Given the description of an element on the screen output the (x, y) to click on. 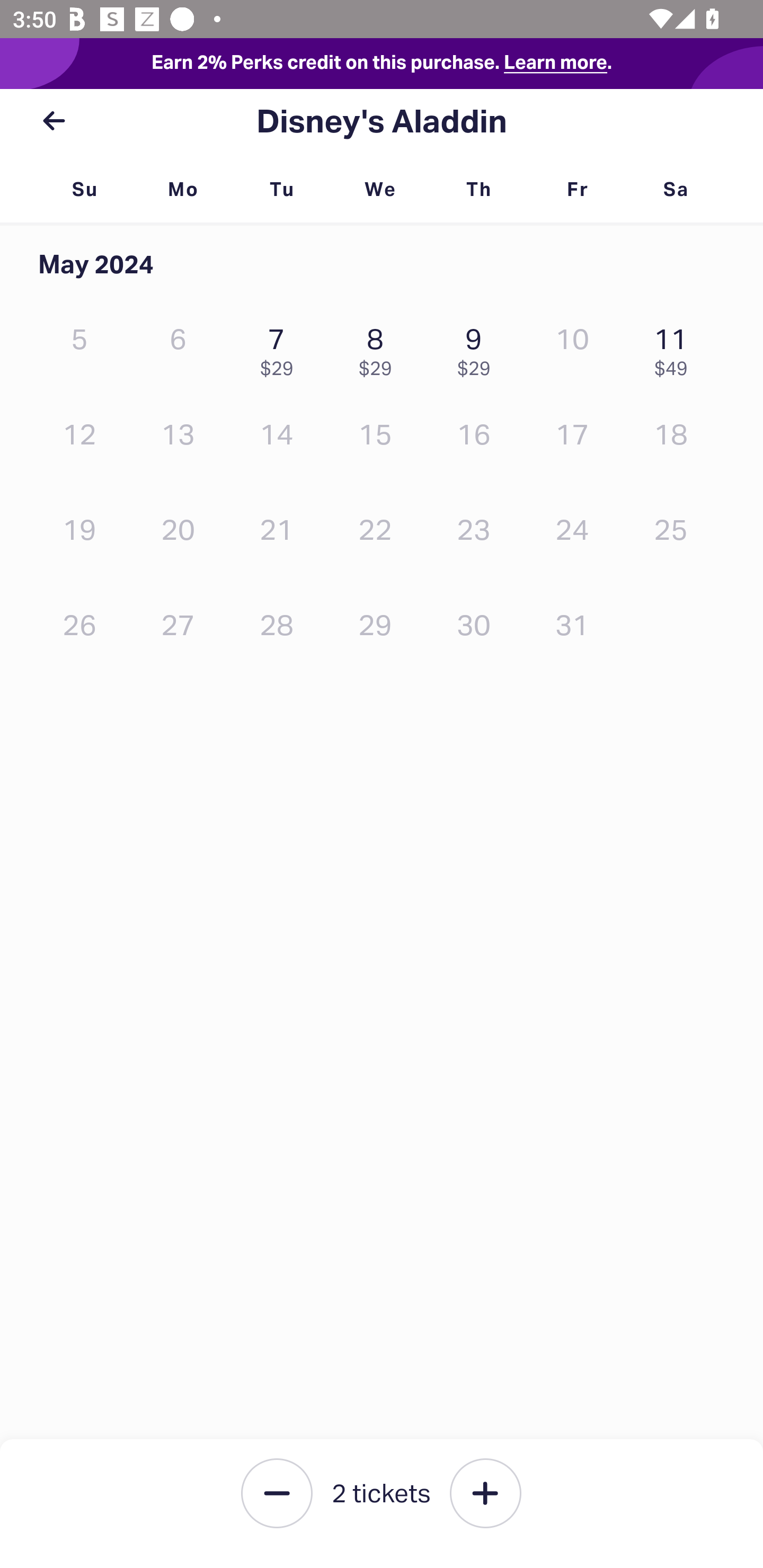
Earn 2% Perks credit on this purchase. Learn more. (381, 63)
back button (53, 120)
7 $29 (281, 347)
8 $29 (379, 347)
9 $29 (478, 347)
11 $49 (675, 347)
